Given the description of an element on the screen output the (x, y) to click on. 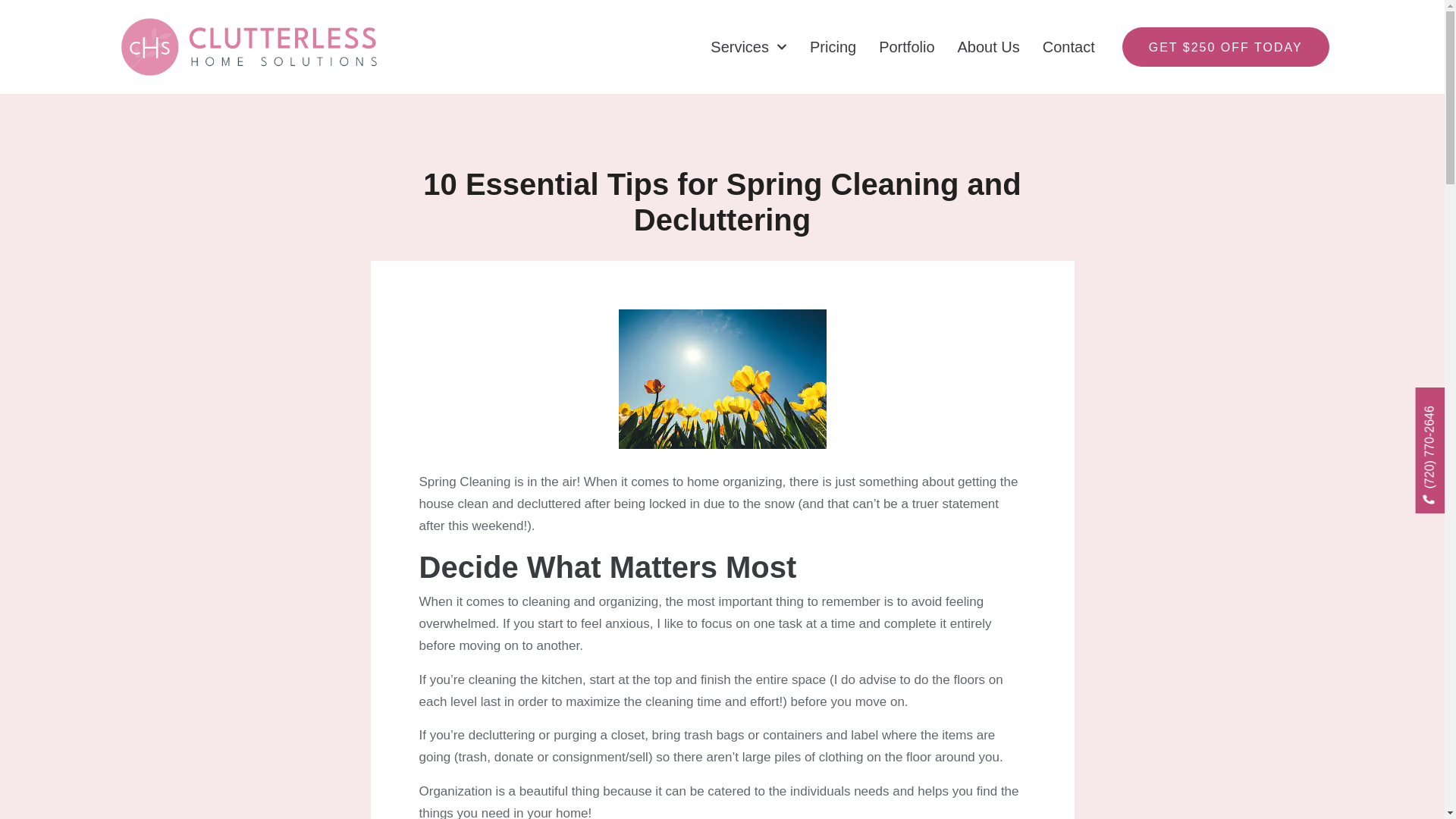
Services (748, 46)
Pricing (832, 46)
About Us (989, 46)
Portfolio (906, 46)
Contact (1068, 46)
